Given the description of an element on the screen output the (x, y) to click on. 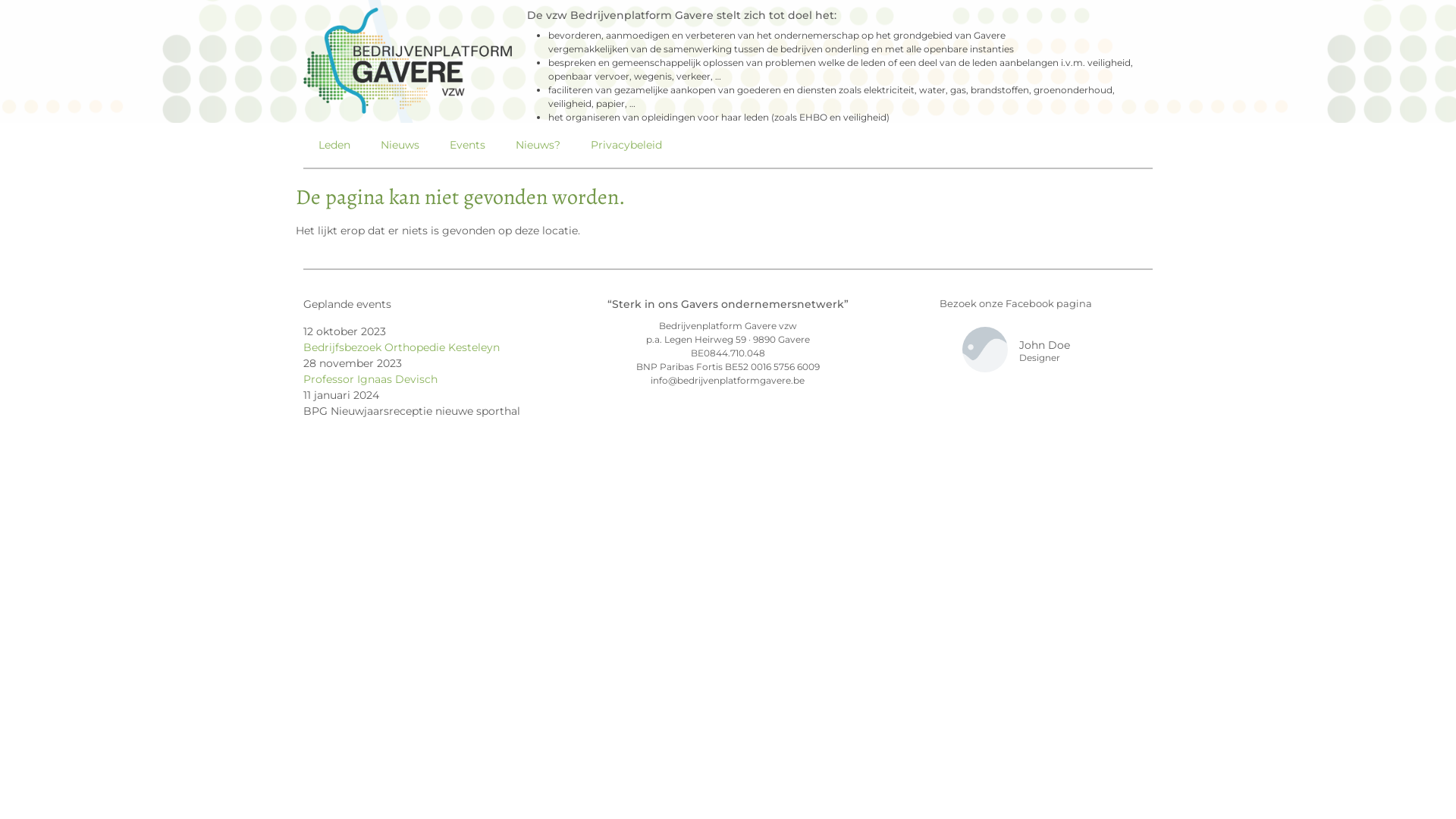
Leden Element type: text (334, 144)
Nieuws Element type: text (399, 144)
Bedrijfsbezoek Orthopedie Kesteleyn Element type: text (401, 347)
Privacybeleid Element type: text (626, 144)
Events Element type: text (467, 144)
Nieuws? Element type: text (537, 144)
Professor Ignaas Devisch Element type: text (370, 378)
